Given the description of an element on the screen output the (x, y) to click on. 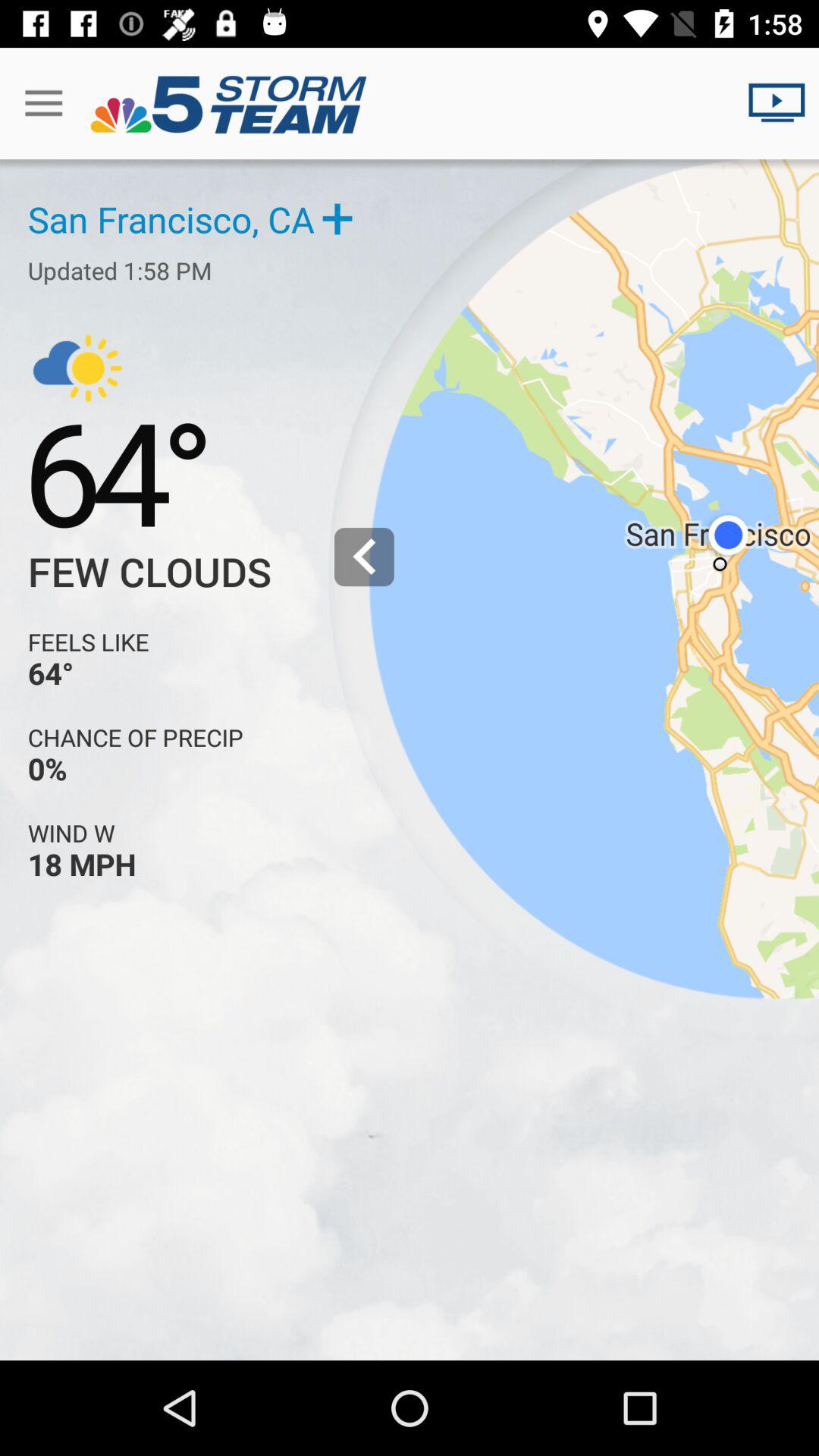
click on the blue text which is just below the title bar (244, 190)
go to the text in the title bar (409, 102)
